Given the description of an element on the screen output the (x, y) to click on. 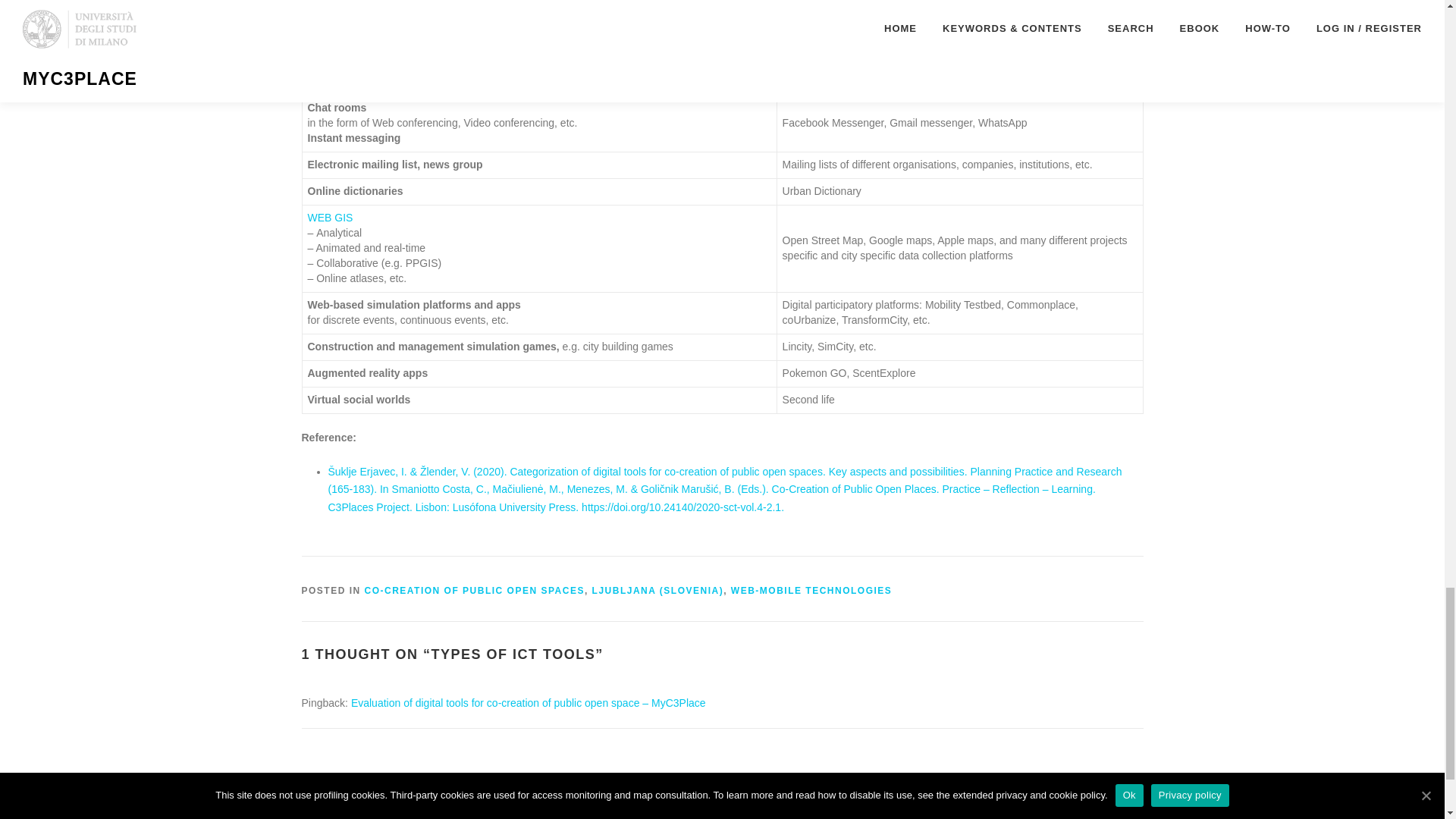
WEB GIS (330, 217)
WEB-MOBILE TECHNOLOGIES (811, 590)
CO-CREATION OF PUBLIC OPEN SPACES (475, 590)
